Given the description of an element on the screen output the (x, y) to click on. 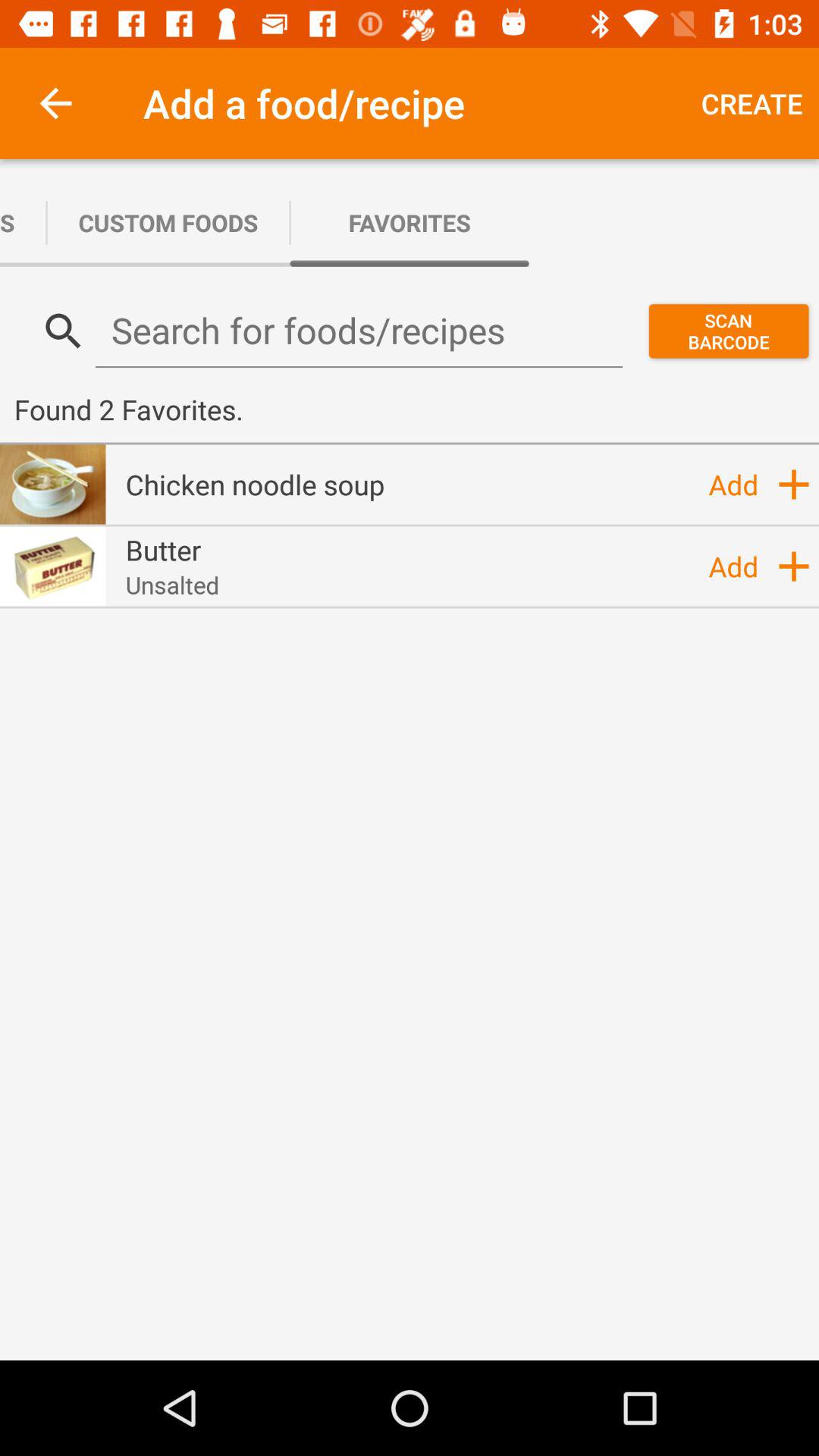
tap icon below the create item (728, 331)
